Given the description of an element on the screen output the (x, y) to click on. 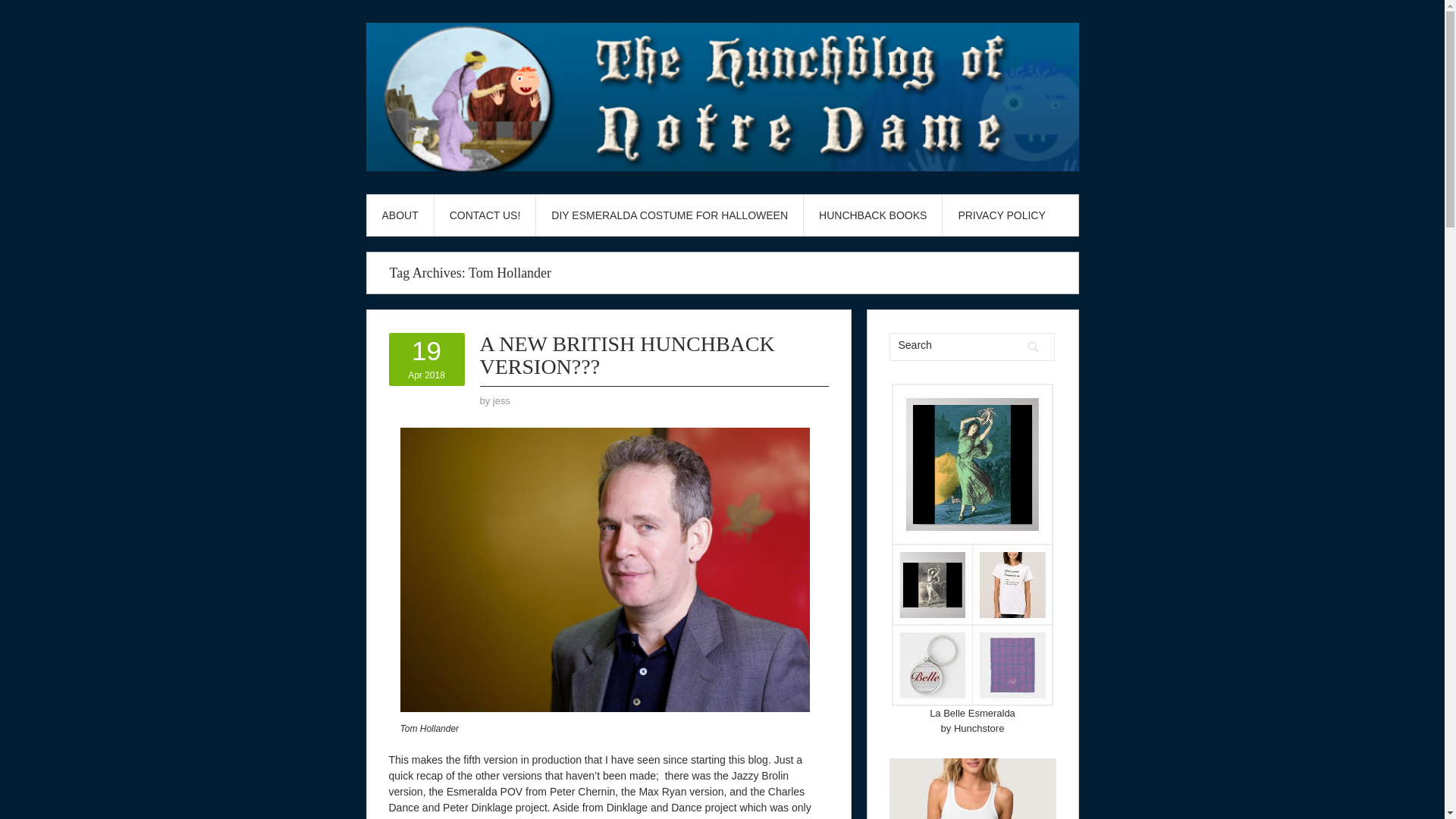
ABOUT (399, 214)
jess (502, 400)
Hunchstore (426, 359)
PRIVACY POLICY (978, 727)
Search (1000, 214)
Search (1032, 346)
CONTACT US! (1032, 346)
DIY ESMERALDA COSTUME FOR HALLOWEEN (484, 214)
Search (669, 214)
by jess (954, 344)
HUNCHBACK BOOKS (502, 400)
La Belle Esmeralda (872, 214)
A NEW BRITISH HUNCHBACK VERSION??? (972, 713)
Permalink to A New British Hunchback Version??? (626, 355)
